Given the description of an element on the screen output the (x, y) to click on. 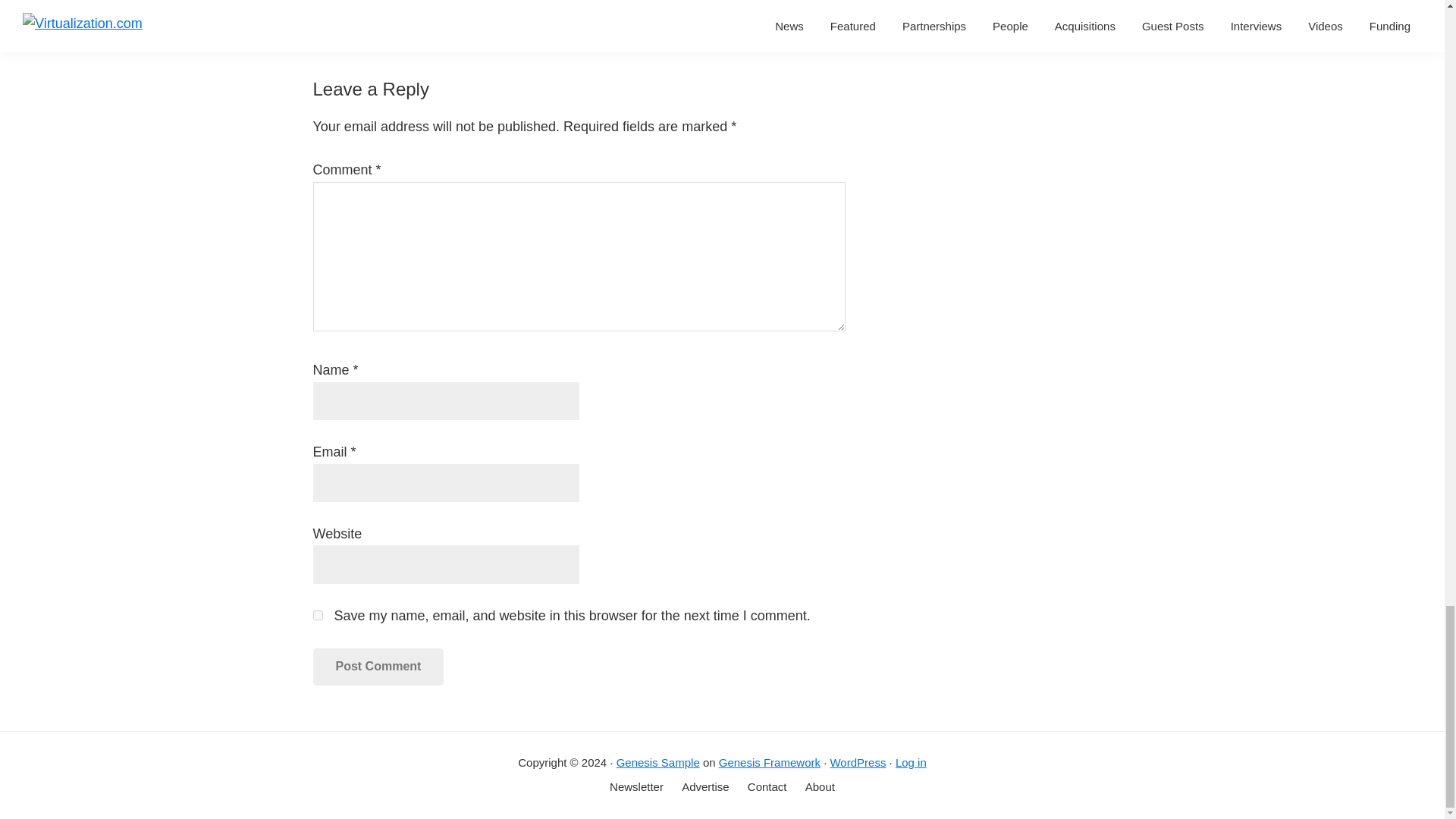
yes (317, 614)
Post Comment (378, 666)
